Given the description of an element on the screen output the (x, y) to click on. 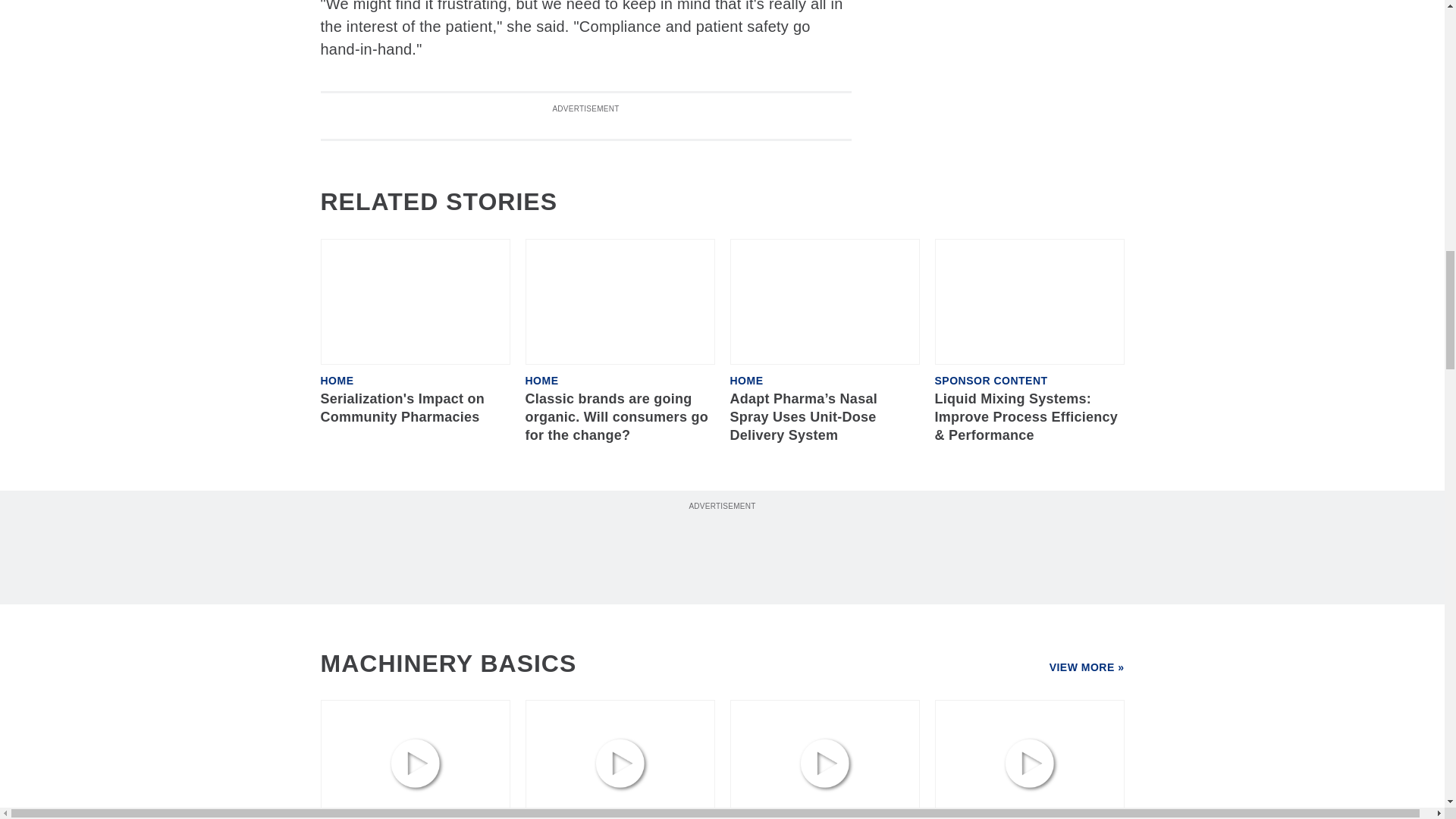
Home (540, 380)
Home (336, 380)
Sponsor Content (990, 380)
Home (745, 380)
